Given the description of an element on the screen output the (x, y) to click on. 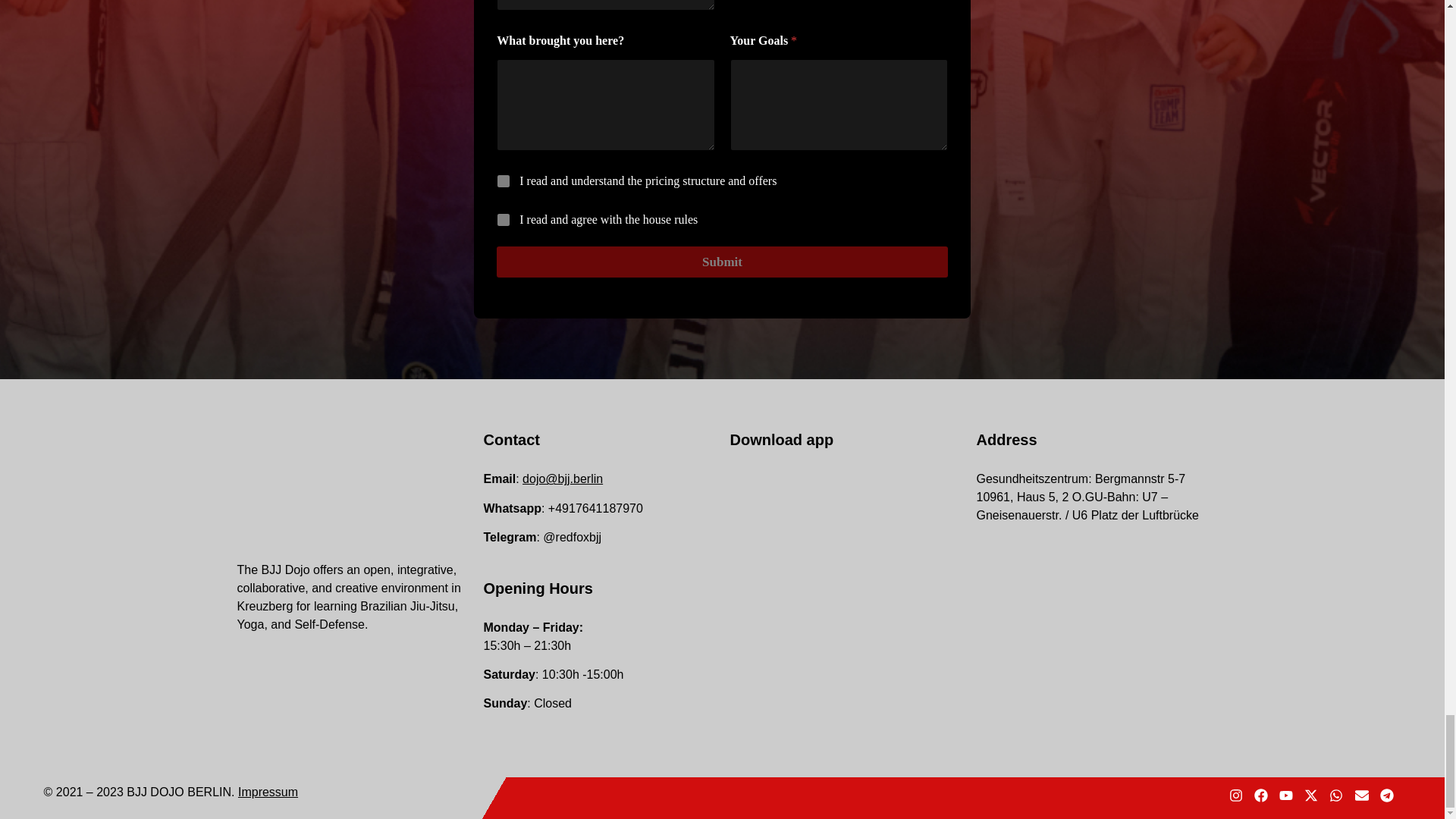
Submit (721, 261)
I read and agree with the house rules (504, 220)
I read and understand the pricing structure and offers (504, 182)
